Given the description of an element on the screen output the (x, y) to click on. 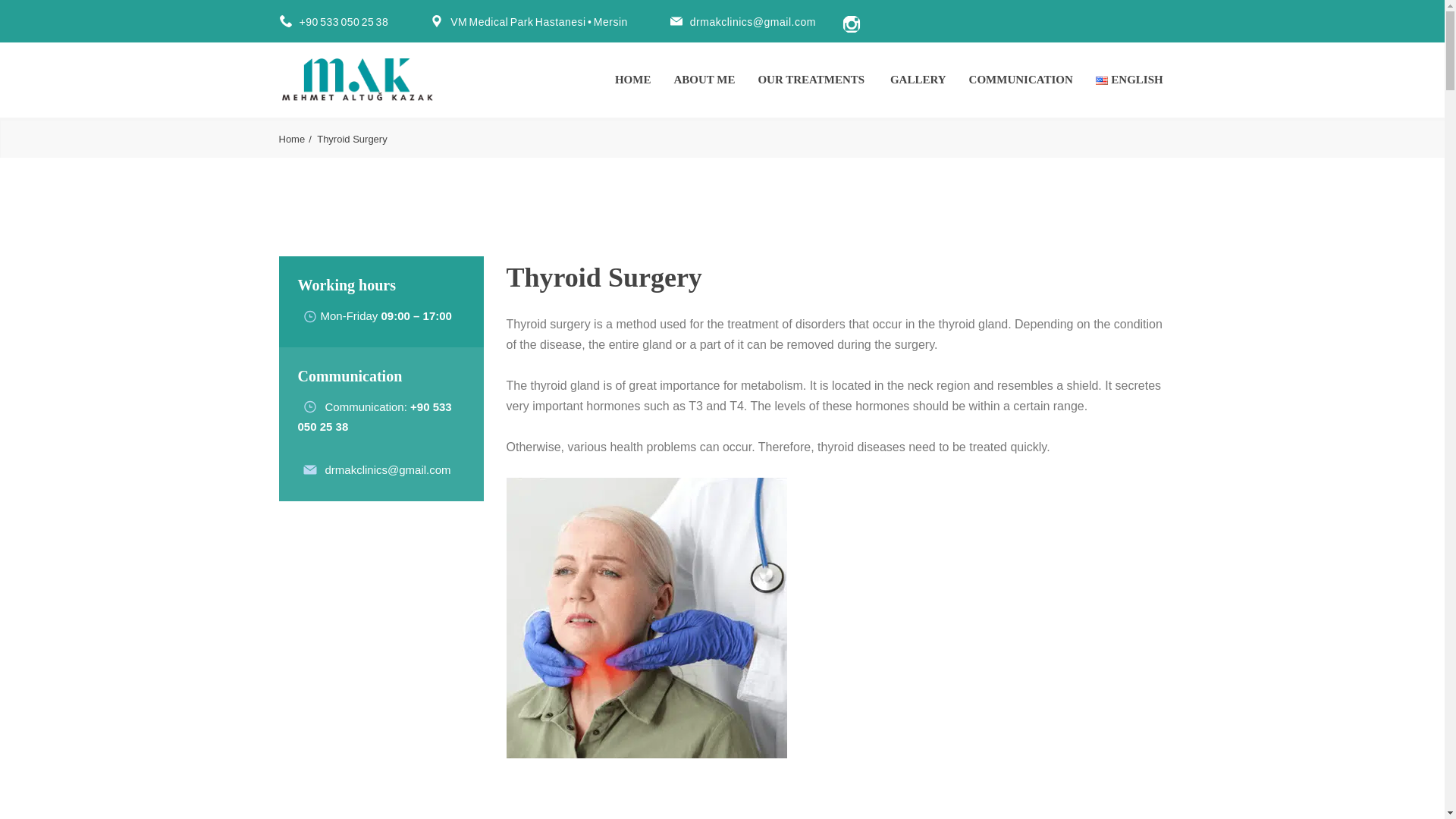
OUR TREATMENTS (812, 79)
ENGLISH (1131, 79)
Communication (363, 406)
GALLERY (917, 79)
COMMUNICATION (1021, 79)
ABOUT ME (703, 79)
HOME (632, 79)
Home (296, 138)
Communication (363, 406)
